Given the description of an element on the screen output the (x, y) to click on. 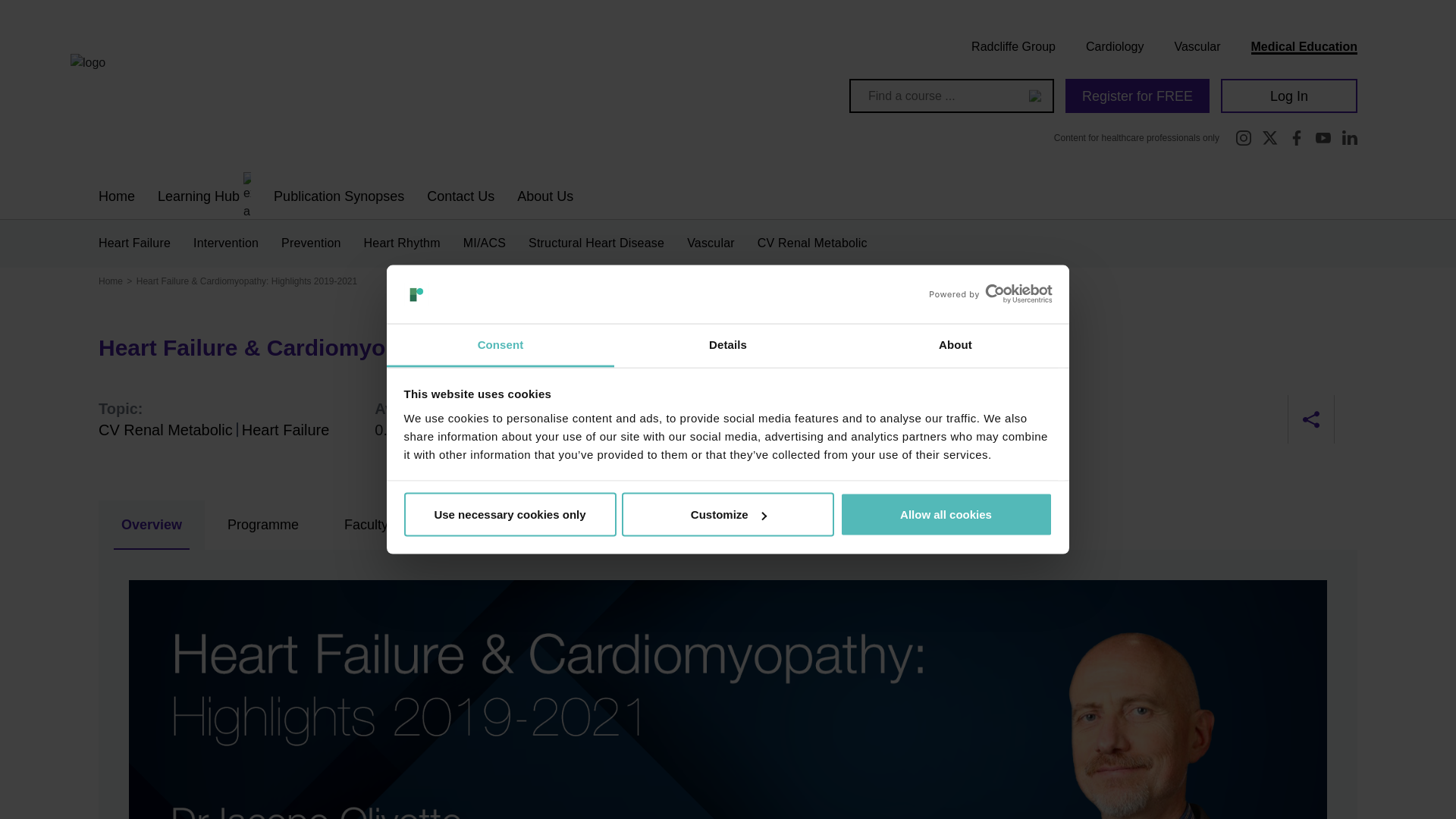
About (954, 344)
Details (727, 344)
Consent (500, 344)
